Given the description of an element on the screen output the (x, y) to click on. 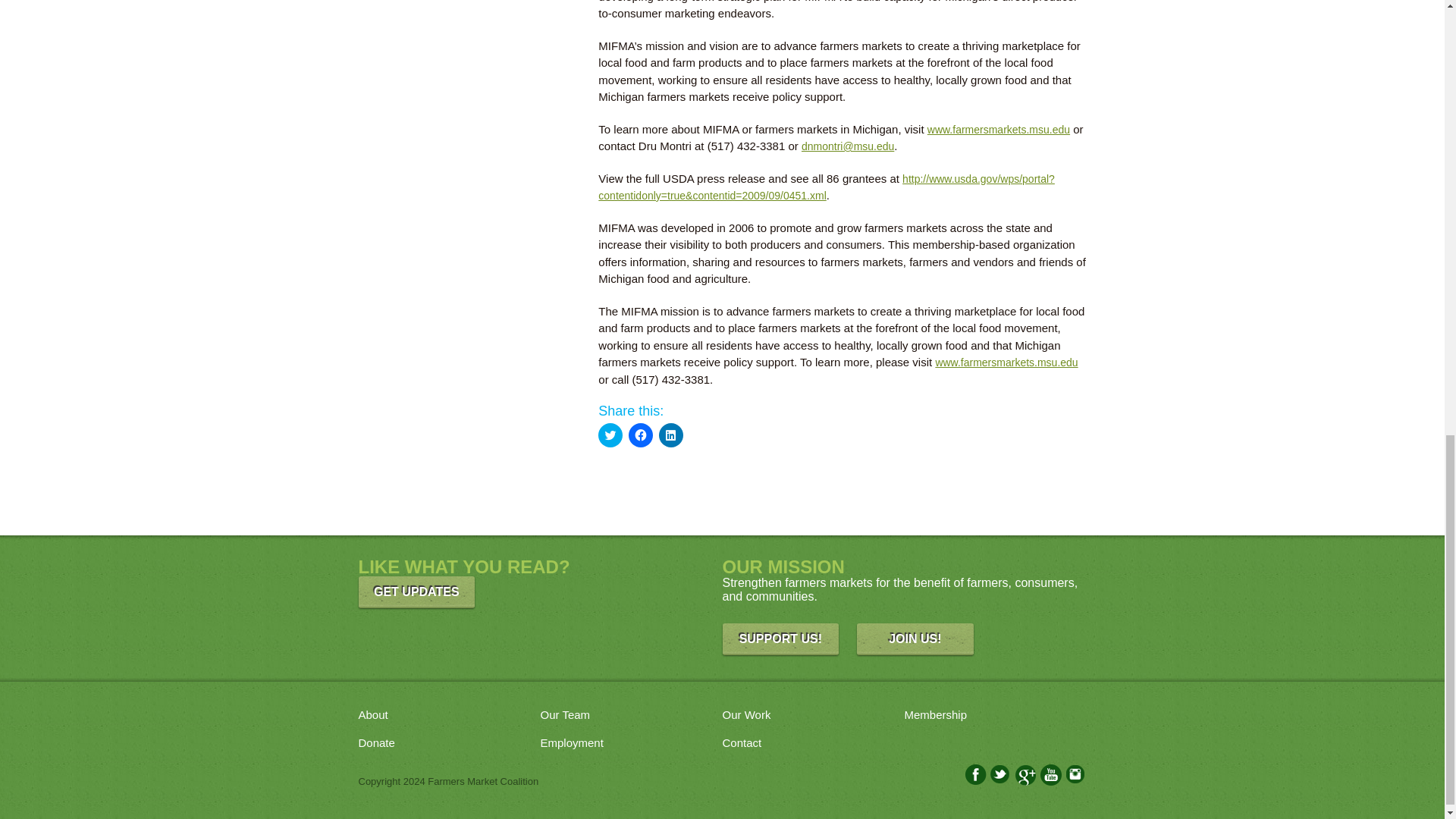
Click to share on Twitter (610, 435)
Click to share on Facebook (640, 435)
Click to share on LinkedIn (670, 435)
